Given the description of an element on the screen output the (x, y) to click on. 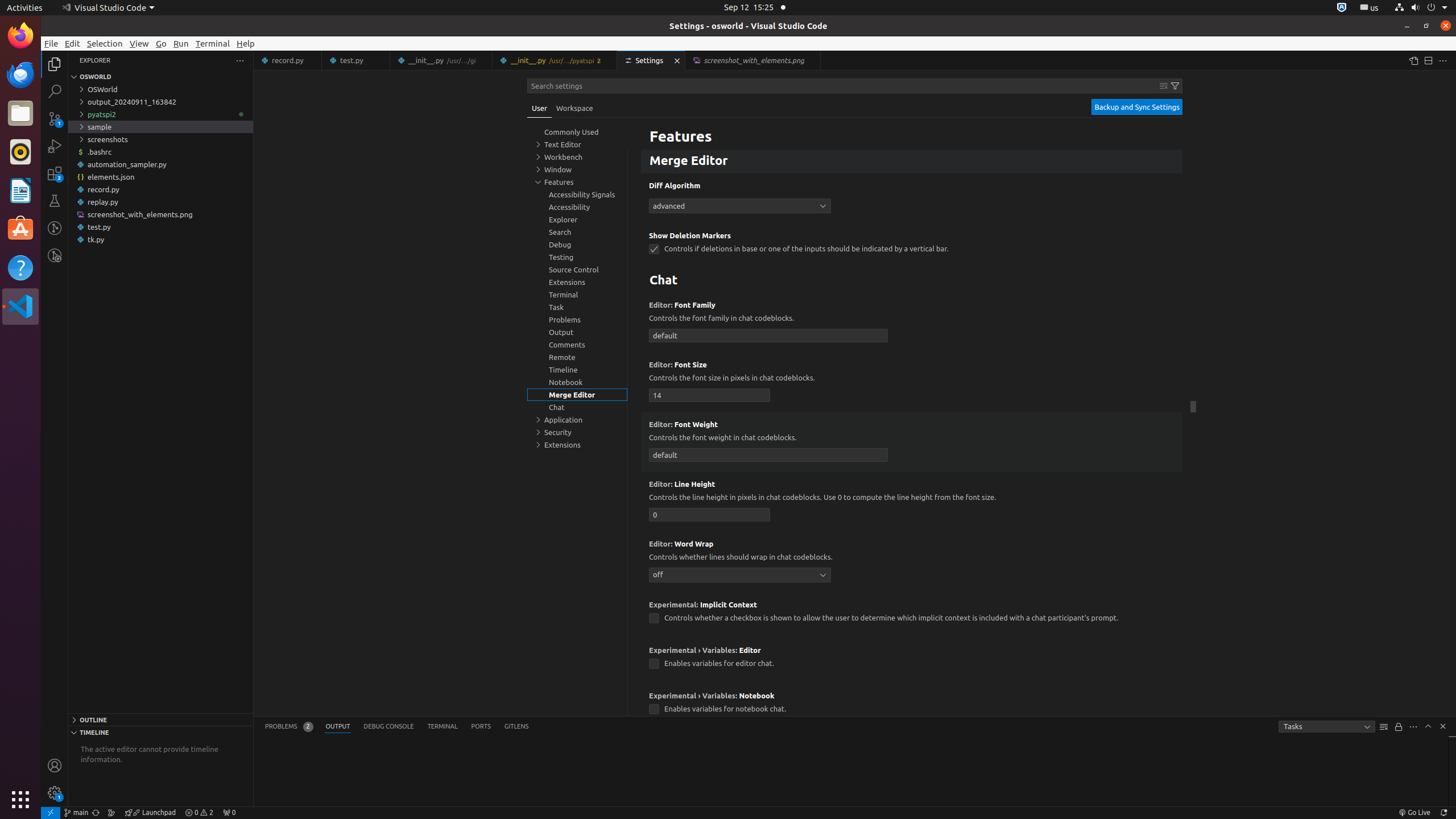
Open Settings (JSON) Element type: push-button (1413, 60)
Run Element type: push-button (181, 43)
Warnings: 2 Element type: push-button (199, 812)
Firefox Web Browser Element type: push-button (20, 35)
